Given the description of an element on the screen output the (x, y) to click on. 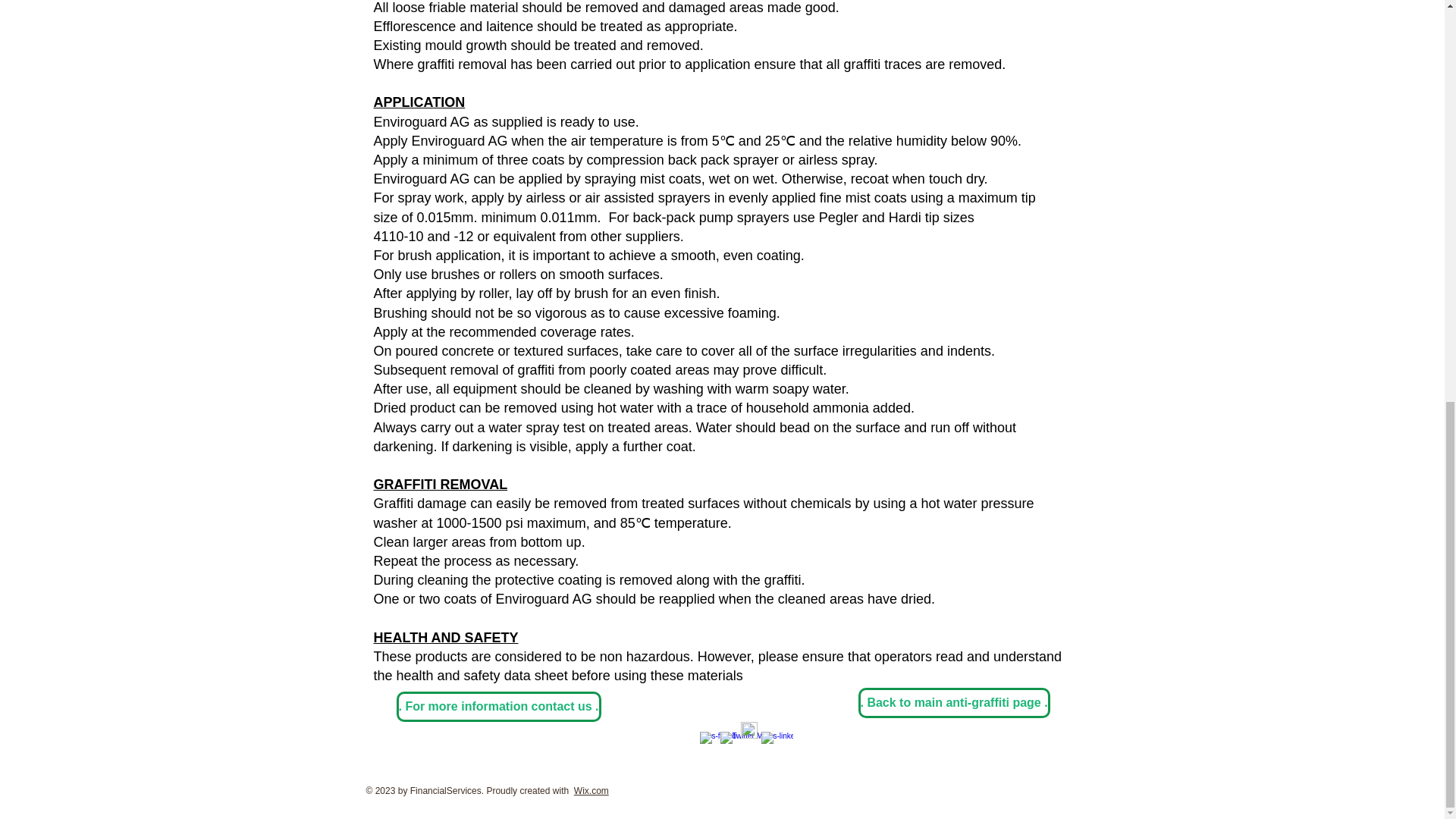
Wix.com (590, 790)
. Back to main anti-graffiti page . (954, 702)
. For more information contact us . (497, 706)
